Given the description of an element on the screen output the (x, y) to click on. 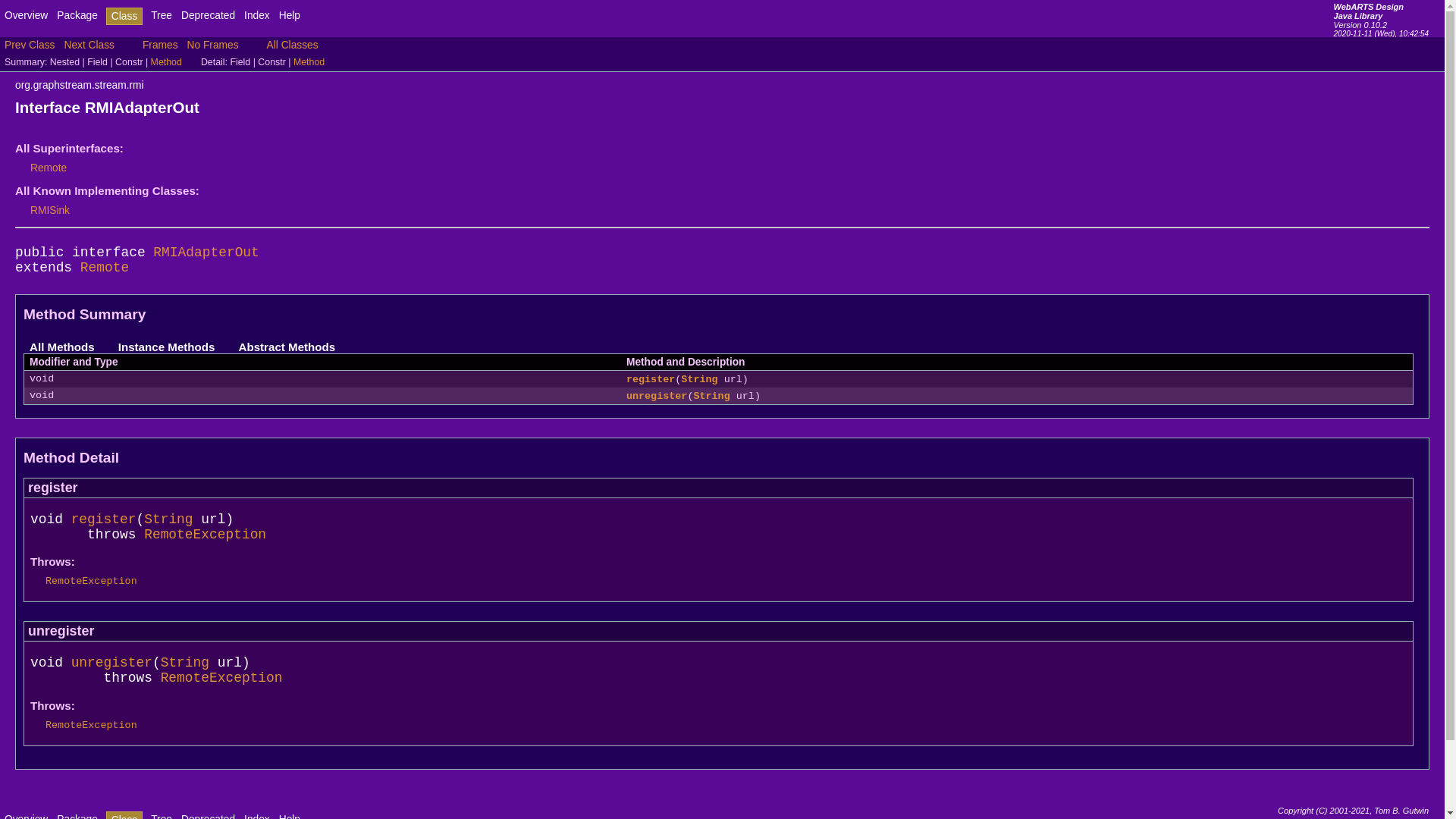
RemoteException Element type: text (91, 580)
RMIAdapterOut Element type: text (205, 252)
Deprecated Element type: text (208, 15)
All Classes Element type: text (292, 44)
Next Class Element type: text (88, 44)
Remote Element type: text (48, 167)
Method Element type: text (308, 61)
Method Element type: text (166, 61)
RemoteException Element type: text (91, 725)
Remote Element type: text (104, 267)
Overview Element type: text (25, 15)
String Element type: text (168, 519)
String Element type: text (711, 395)
RMISink Element type: text (49, 210)
Frames Element type: text (160, 44)
register Element type: text (103, 519)
String Element type: text (698, 379)
Abstract Methods Element type: text (286, 346)
RemoteException Element type: text (221, 677)
Prev Class Element type: text (29, 44)
WebARTS Design
Java Library Element type: text (1368, 11)
Tree Element type: text (161, 15)
unregister Element type: text (656, 395)
register Element type: text (650, 379)
String Element type: text (184, 662)
RemoteException Element type: text (205, 534)
Instance Methods Element type: text (166, 346)
Package Element type: text (76, 15)
No Frames Element type: text (212, 44)
Help Element type: text (289, 15)
Index Element type: text (256, 15)
unregister Element type: text (111, 662)
Tom B. Gutwin Element type: text (1401, 810)
